Given the description of an element on the screen output the (x, y) to click on. 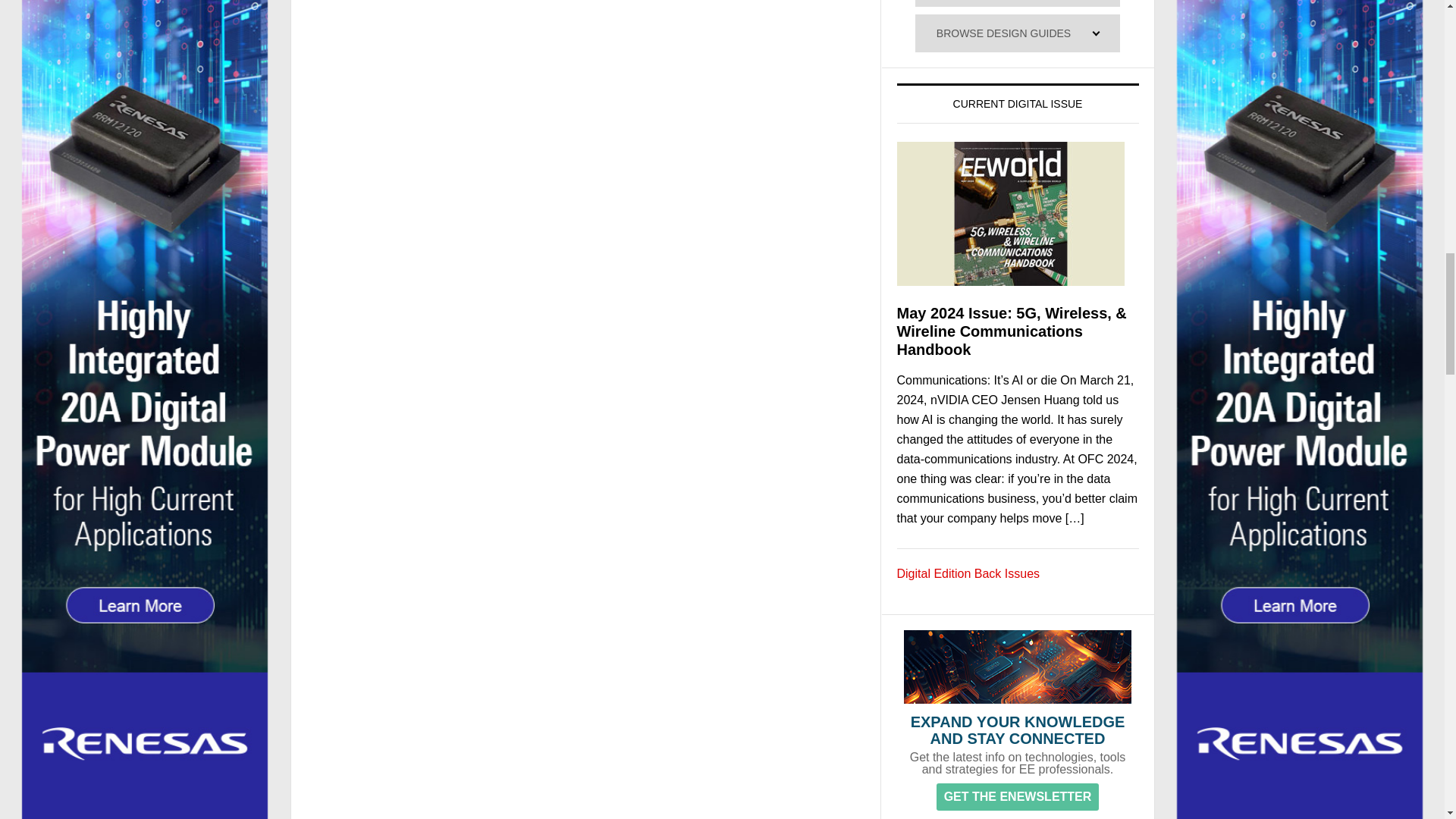
Digital Edition Back Issue (967, 573)
